Given the description of an element on the screen output the (x, y) to click on. 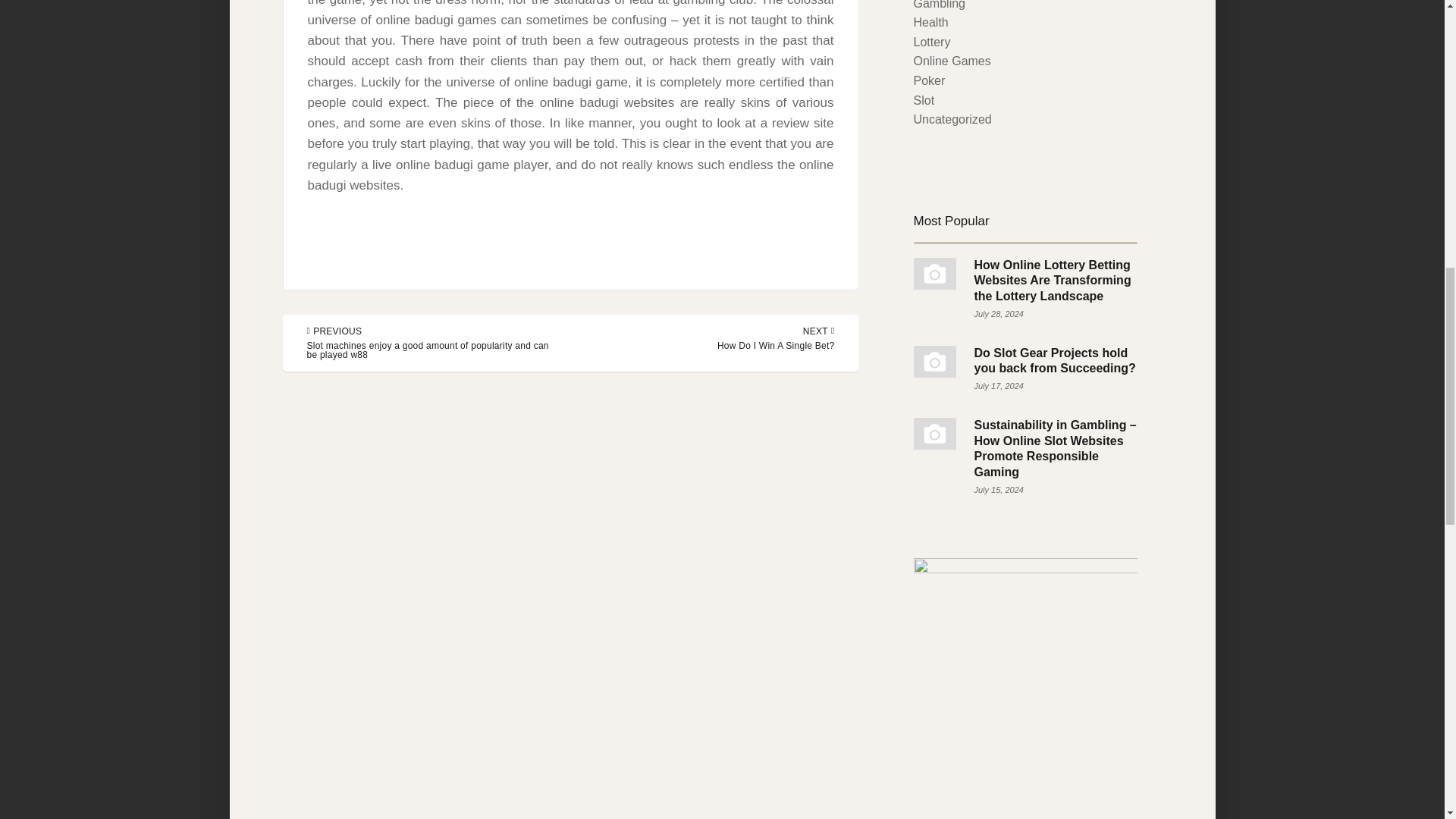
Online Games (951, 60)
Lottery (931, 42)
Uncategorized (951, 119)
Slot (923, 100)
Gambling (937, 4)
Poker (928, 80)
Do Slot Gear Projects hold you back from Succeeding? (775, 338)
Health (1054, 360)
